Given the description of an element on the screen output the (x, y) to click on. 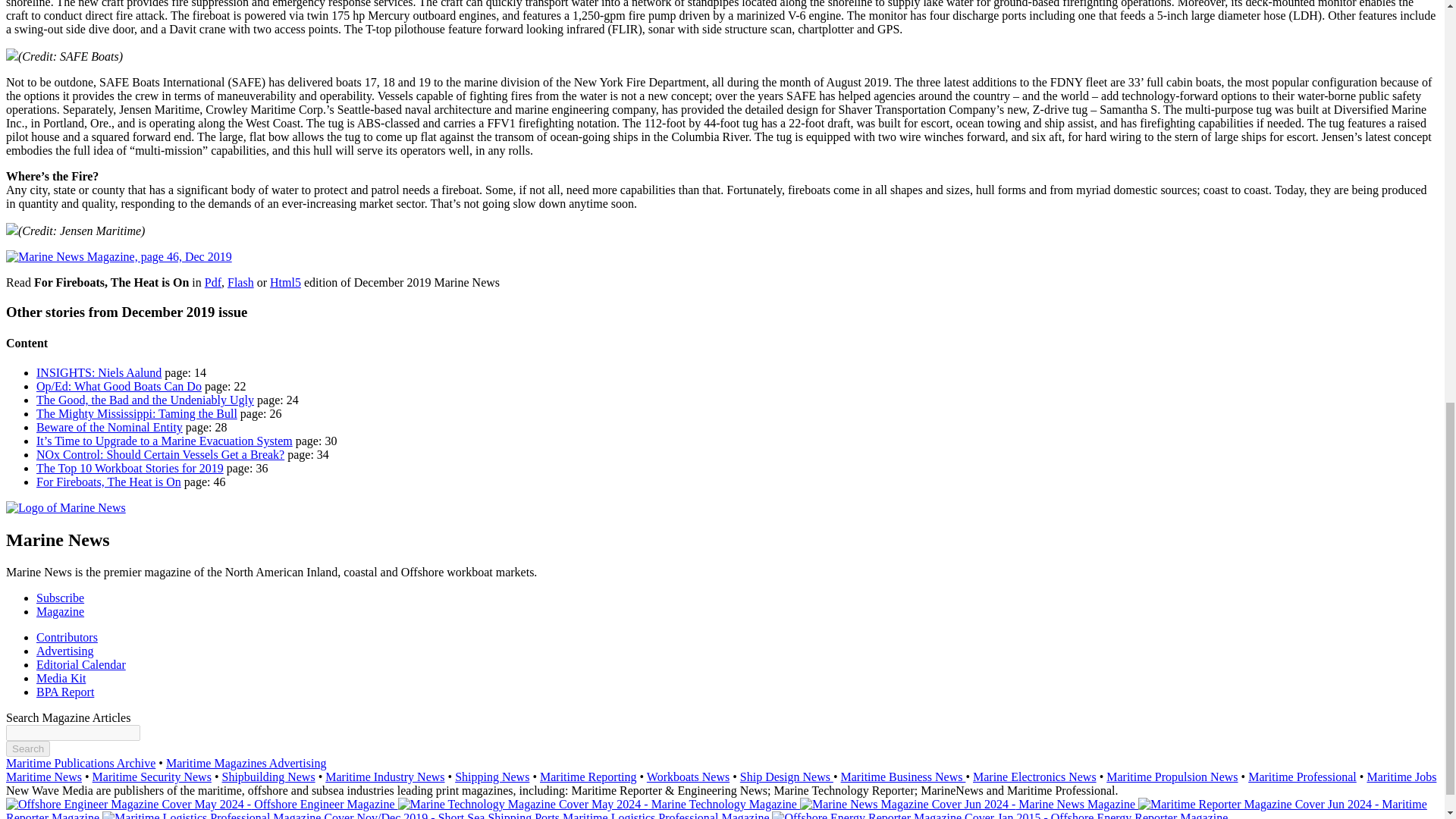
NOx Control: Should Certain Vessels Get a Break? (159, 454)
Marine News Magazine Info (60, 611)
Maritime Propulsion News (1171, 776)
Maritime Industry (384, 776)
Ship Design News (785, 776)
Subscribe for Marine News Magazine (60, 597)
Marine News Editorial Calendar (80, 664)
Advertising (65, 650)
The Top 10 Workboat Stories for 2019 (130, 468)
Offshore Engineer Magazine (201, 803)
Media Kit (60, 677)
For Fireboats, The Heat is On (108, 481)
Maritime Security News (152, 776)
Marine News Magazine Autors (66, 636)
Beware of the Nominal Entity (109, 427)
